Given the description of an element on the screen output the (x, y) to click on. 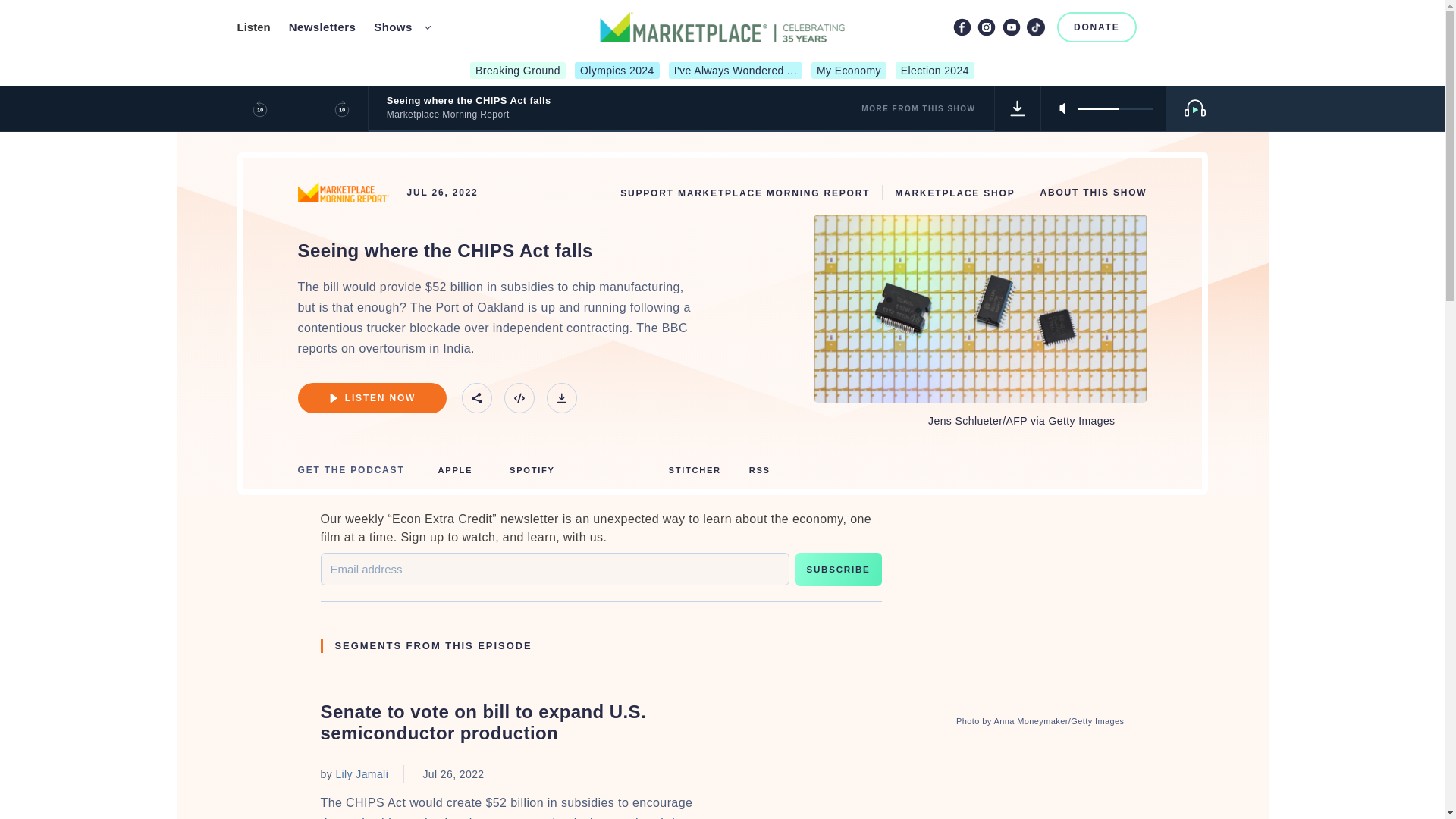
Download Track (561, 398)
Download Track (1017, 108)
Menu (1198, 27)
DONATE (1097, 27)
Instagram (985, 27)
Listen (252, 26)
Newsletters (322, 27)
volume (1115, 108)
Listen Now (371, 398)
